Given the description of an element on the screen output the (x, y) to click on. 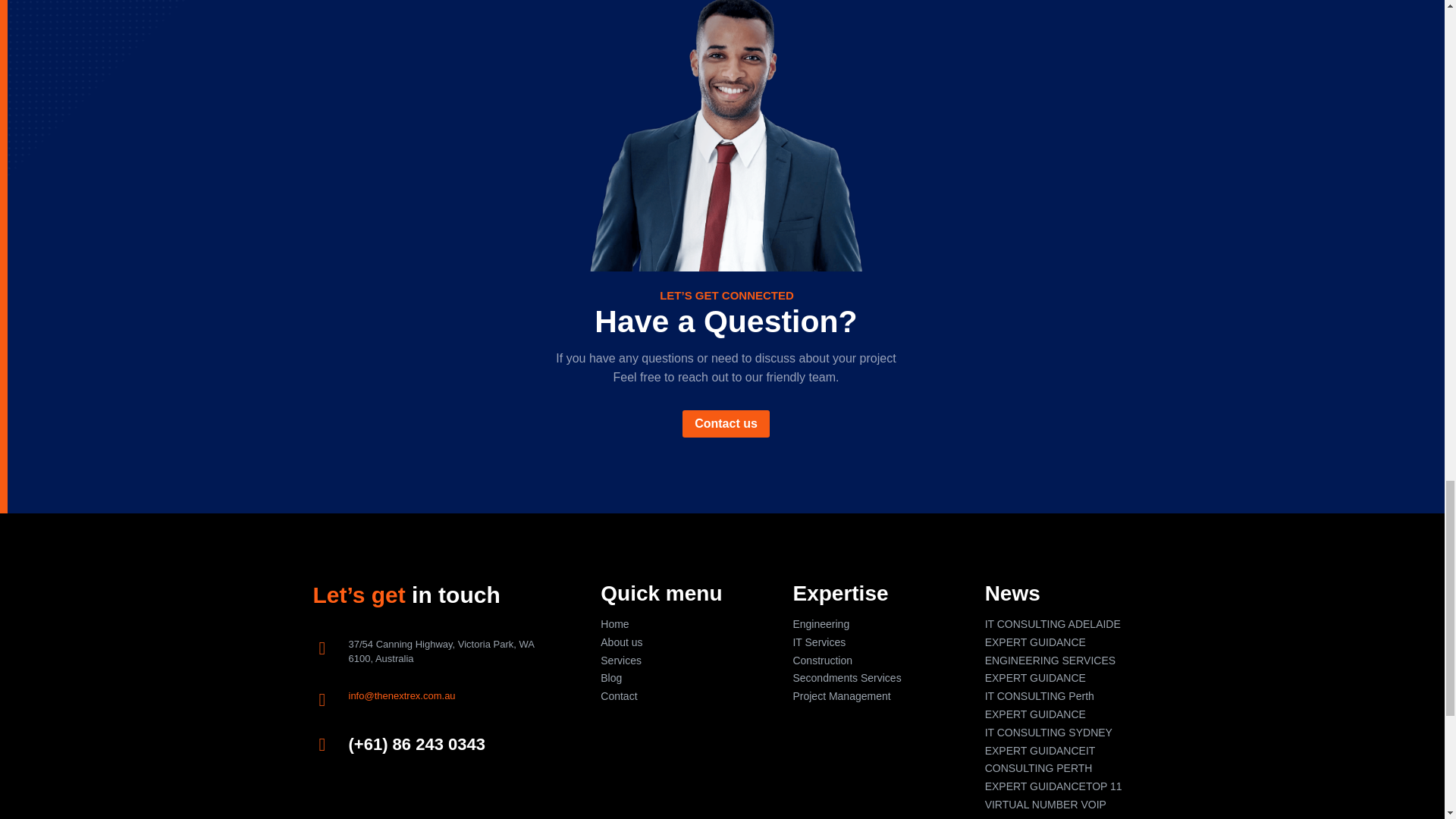
person-stock-2 (725, 135)
